Given the description of an element on the screen output the (x, y) to click on. 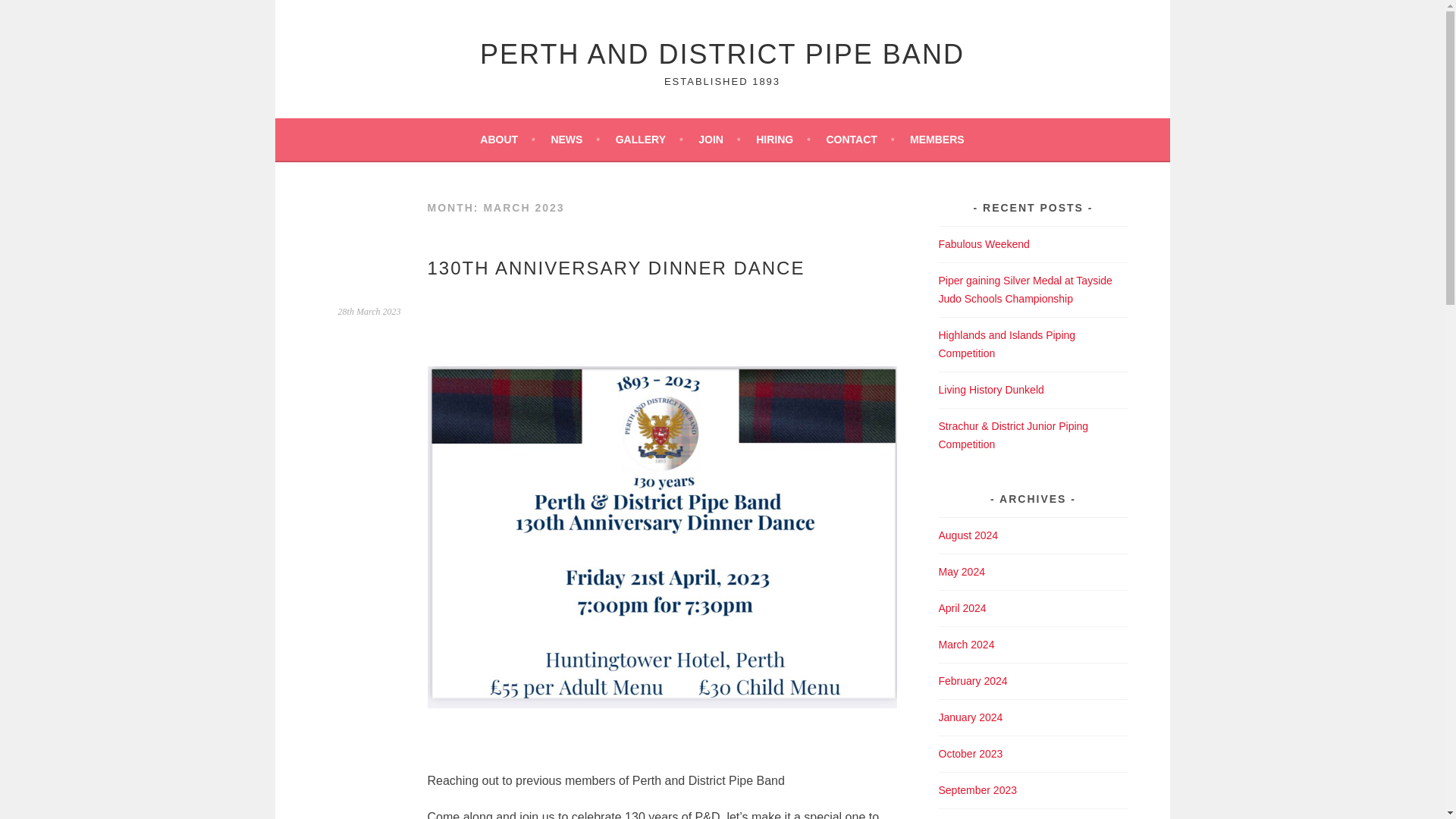
Fabulous Weekend (984, 244)
HIRING (782, 139)
May 2024 (962, 571)
PERTH AND DISTRICT PIPE BAND (721, 53)
MEMBERS (936, 139)
Permalink to 130th Anniversary Dinner Dance (369, 311)
March 2024 (966, 644)
October 2023 (971, 753)
April 2024 (963, 607)
NEWS (574, 139)
